Given the description of an element on the screen output the (x, y) to click on. 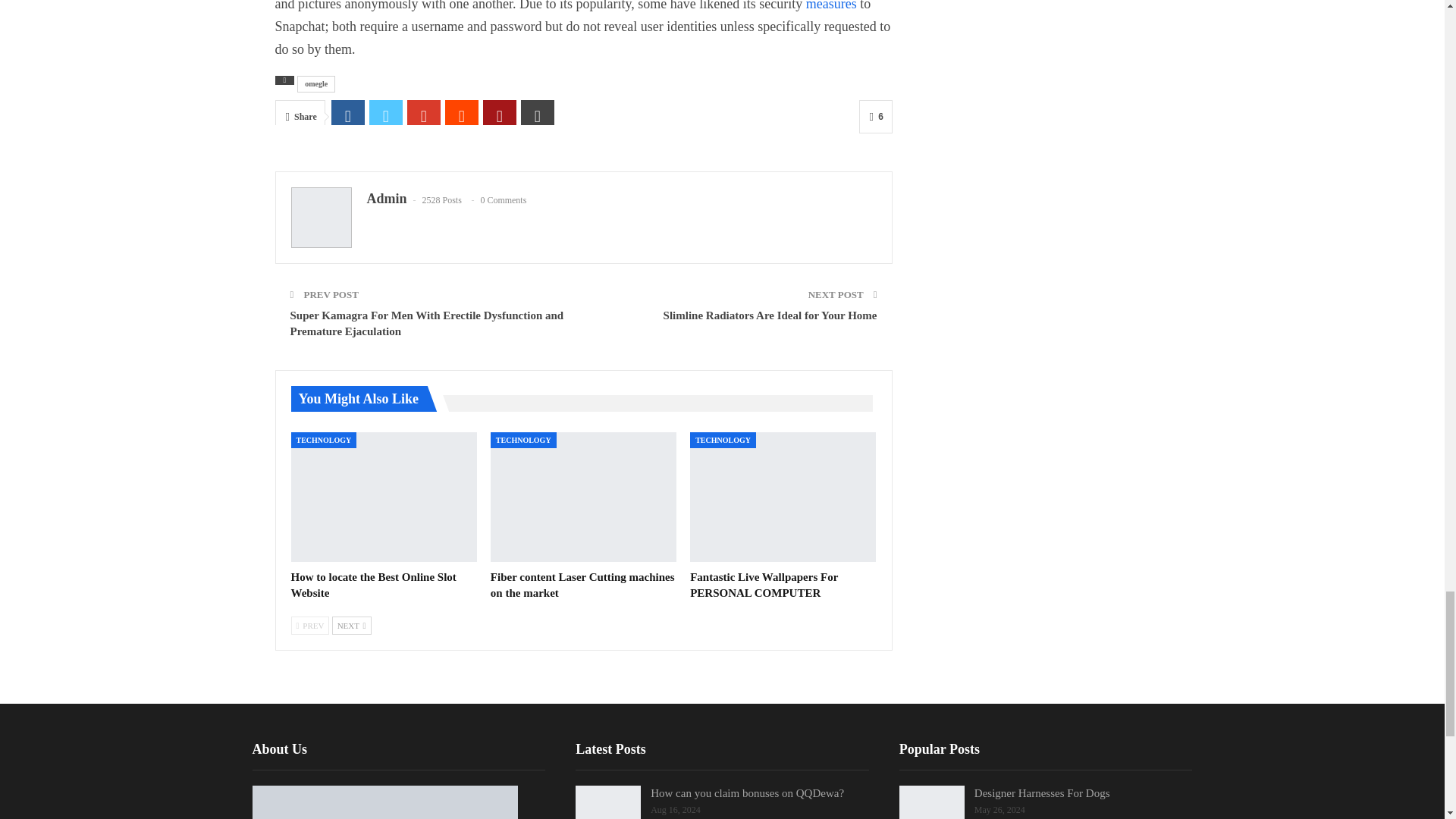
How to locate the Best Online Slot Website (374, 584)
Fantastic Live Wallpapers For PERSONAL COMPUTER (783, 497)
How to locate the Best Online Slot Website (384, 497)
Fiber content Laser Cutting machines on the market (582, 584)
Fiber content Laser Cutting machines on the market (583, 497)
